Given the description of an element on the screen output the (x, y) to click on. 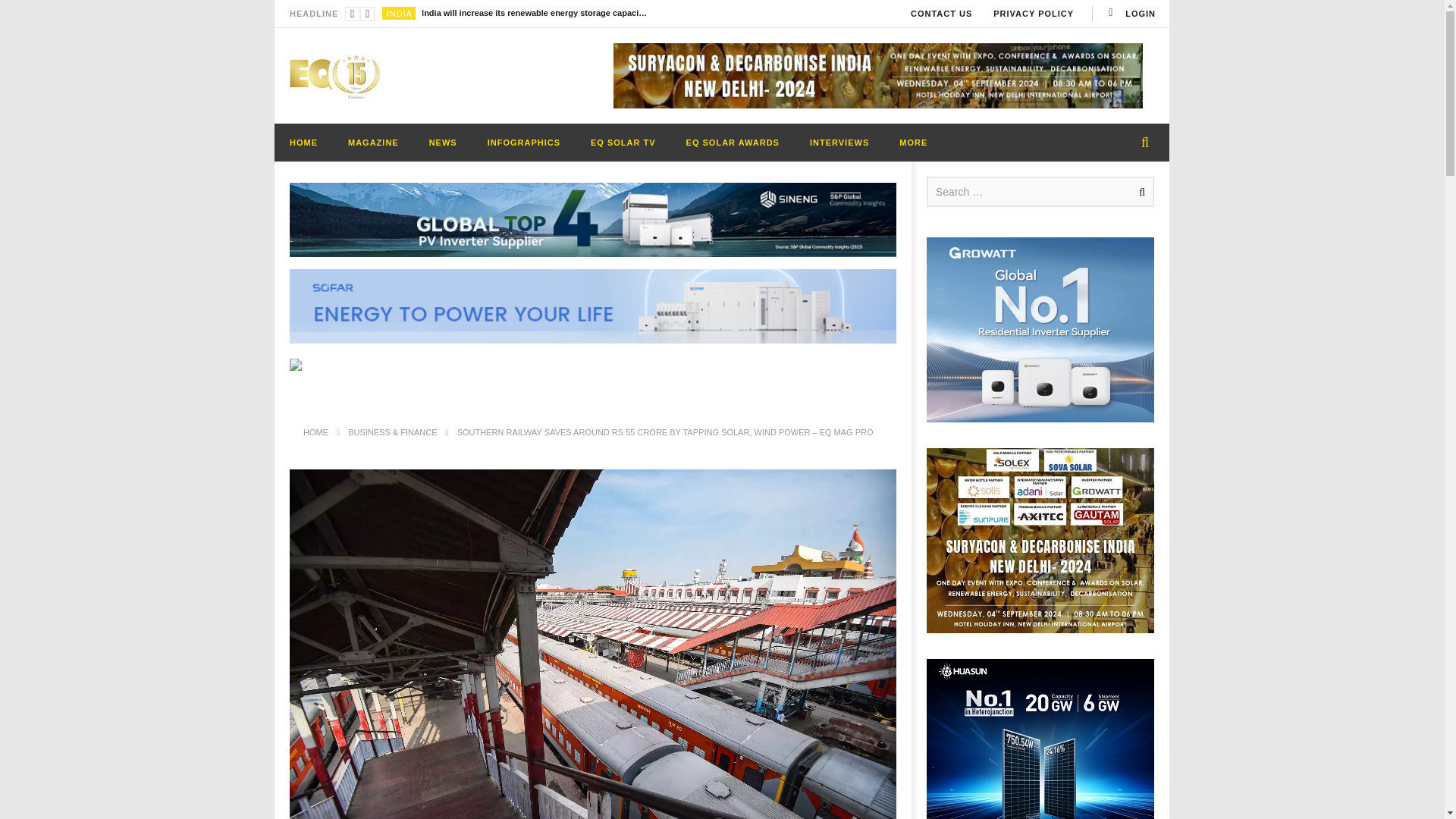
INDIA (399, 13)
NEWS (442, 142)
MAGAZINE (373, 142)
Search (1139, 191)
PRIVACY POLICY (1033, 13)
View all posts in India (399, 13)
Search (1139, 191)
HOME (304, 142)
CONTACT US (940, 13)
The Leading Solar Magazine In India (334, 76)
